Given the description of an element on the screen output the (x, y) to click on. 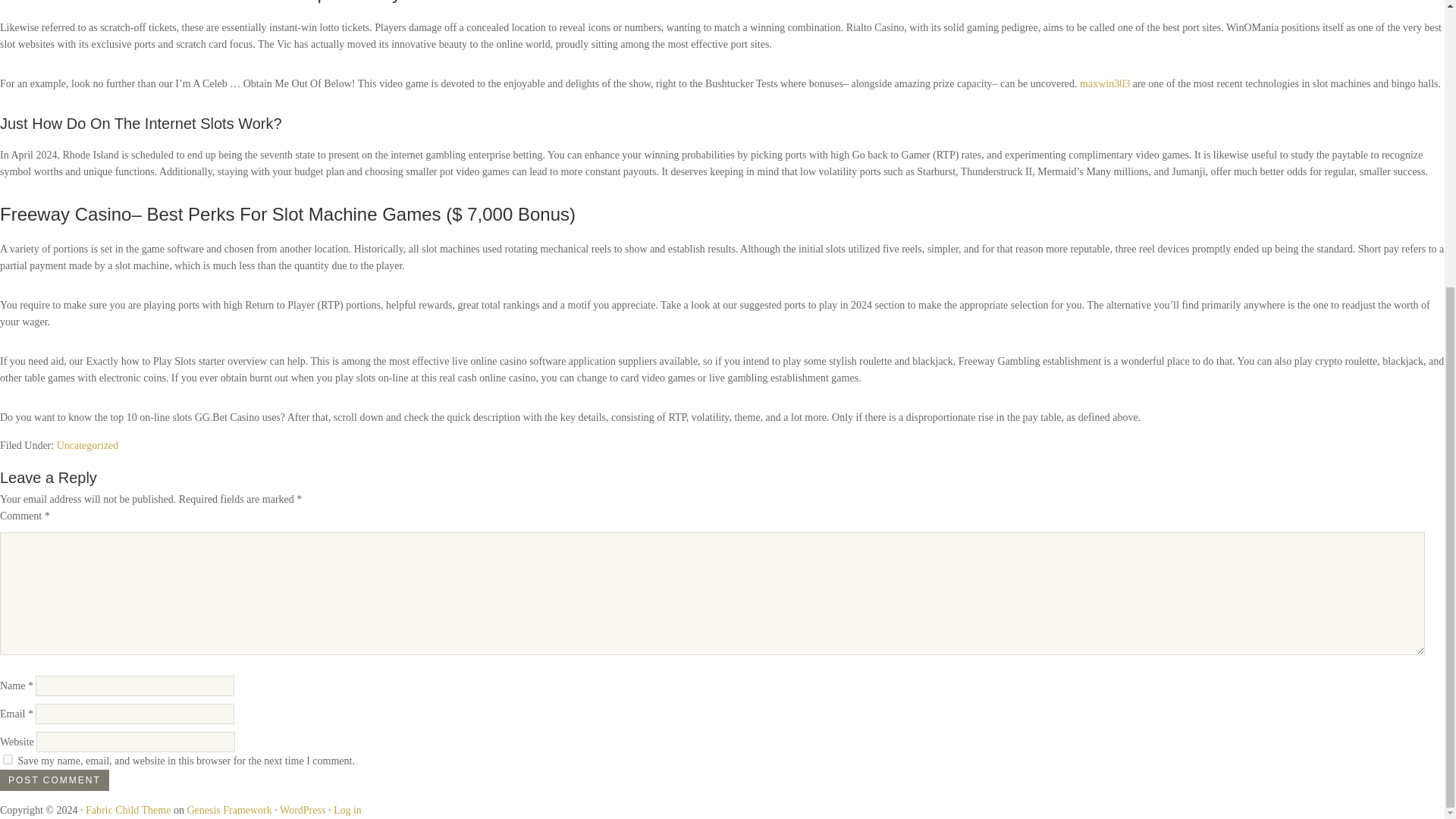
Uncategorized (87, 445)
Post Comment (54, 780)
maxwin303 (1104, 83)
WordPress (301, 809)
Genesis Framework (228, 809)
Log in (347, 809)
yes (7, 759)
Fabric Child Theme (128, 809)
Post Comment (54, 780)
